Given the description of an element on the screen output the (x, y) to click on. 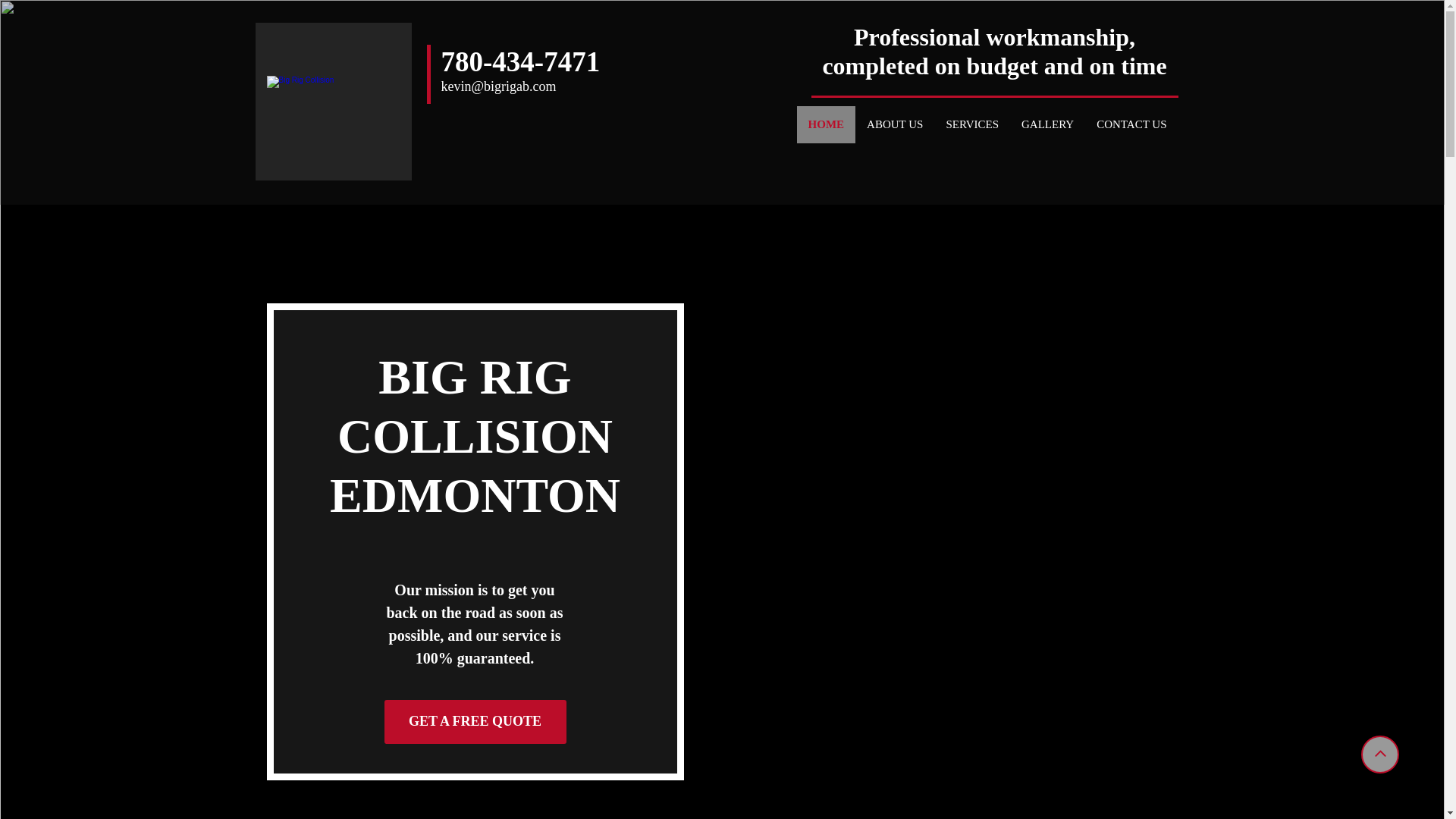
GALLERY (1047, 124)
ABOUT US (895, 124)
SERVICES (972, 124)
CONTACT US (1130, 124)
HOME (826, 124)
780-434-7471 (520, 60)
GET A FREE QUOTE (475, 721)
